Given the description of an element on the screen output the (x, y) to click on. 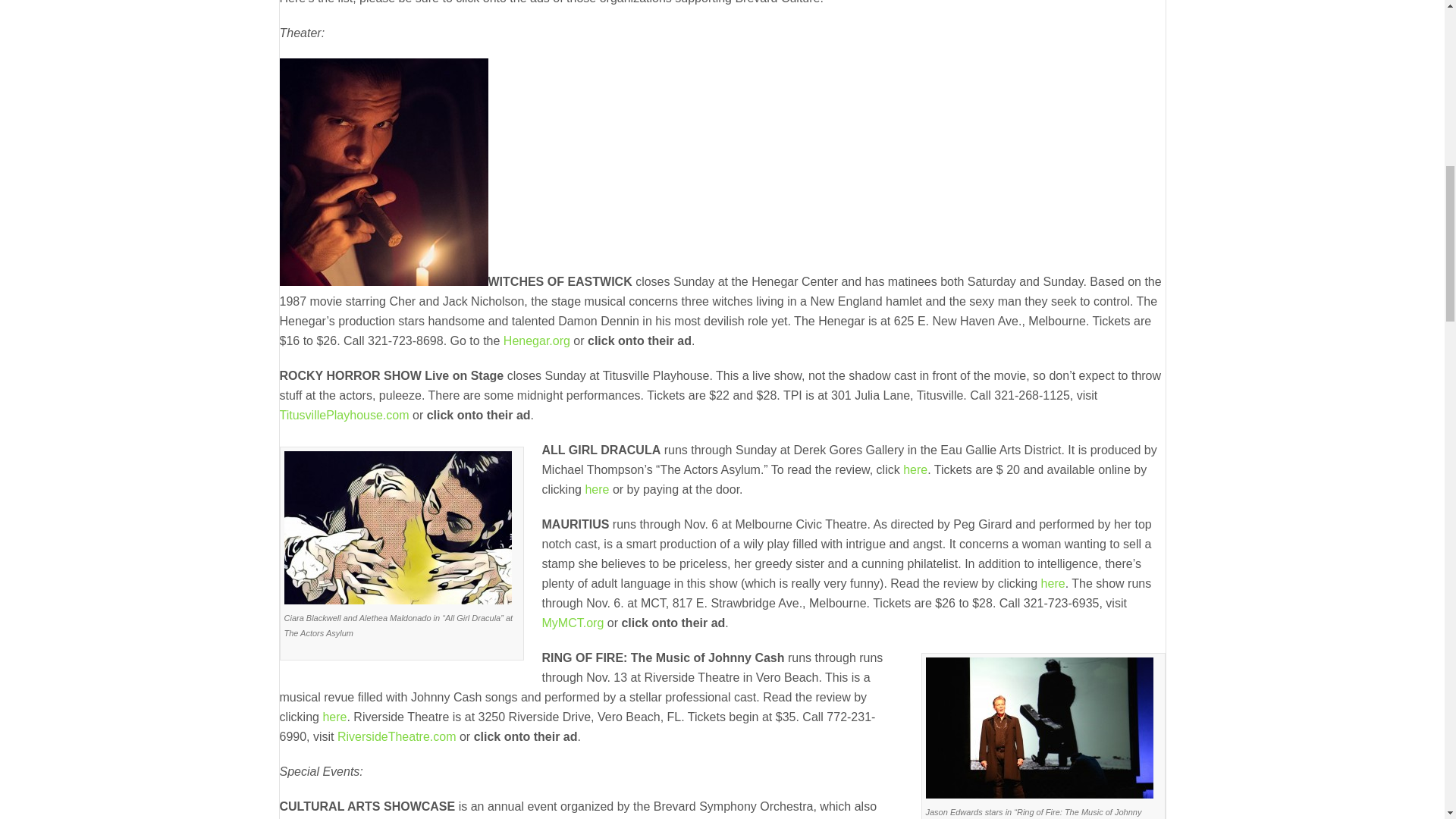
RiversideTheatre.com (395, 736)
here (596, 489)
MyMCT.org (572, 622)
here (1053, 583)
TitusvillePlayhouse.com (344, 414)
here (333, 716)
Henegar.org (536, 340)
here (913, 469)
